Given the description of an element on the screen output the (x, y) to click on. 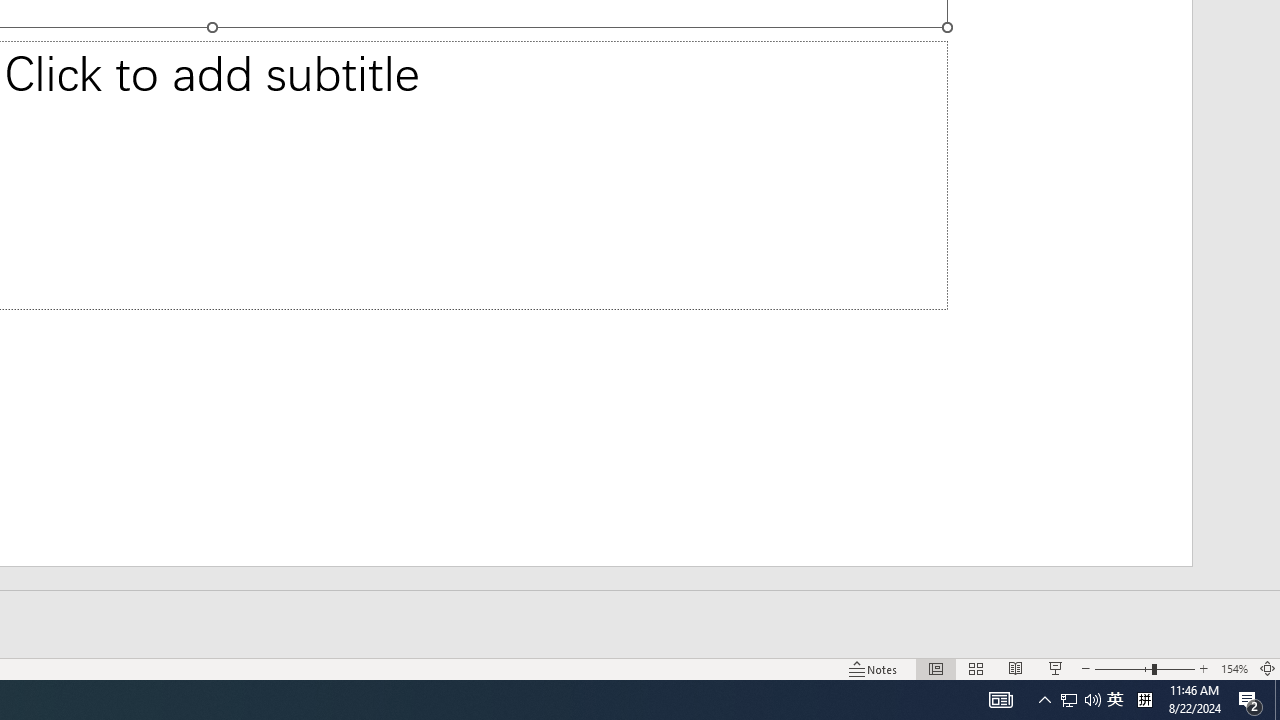
Zoom 154% (1234, 668)
